Given the description of an element on the screen output the (x, y) to click on. 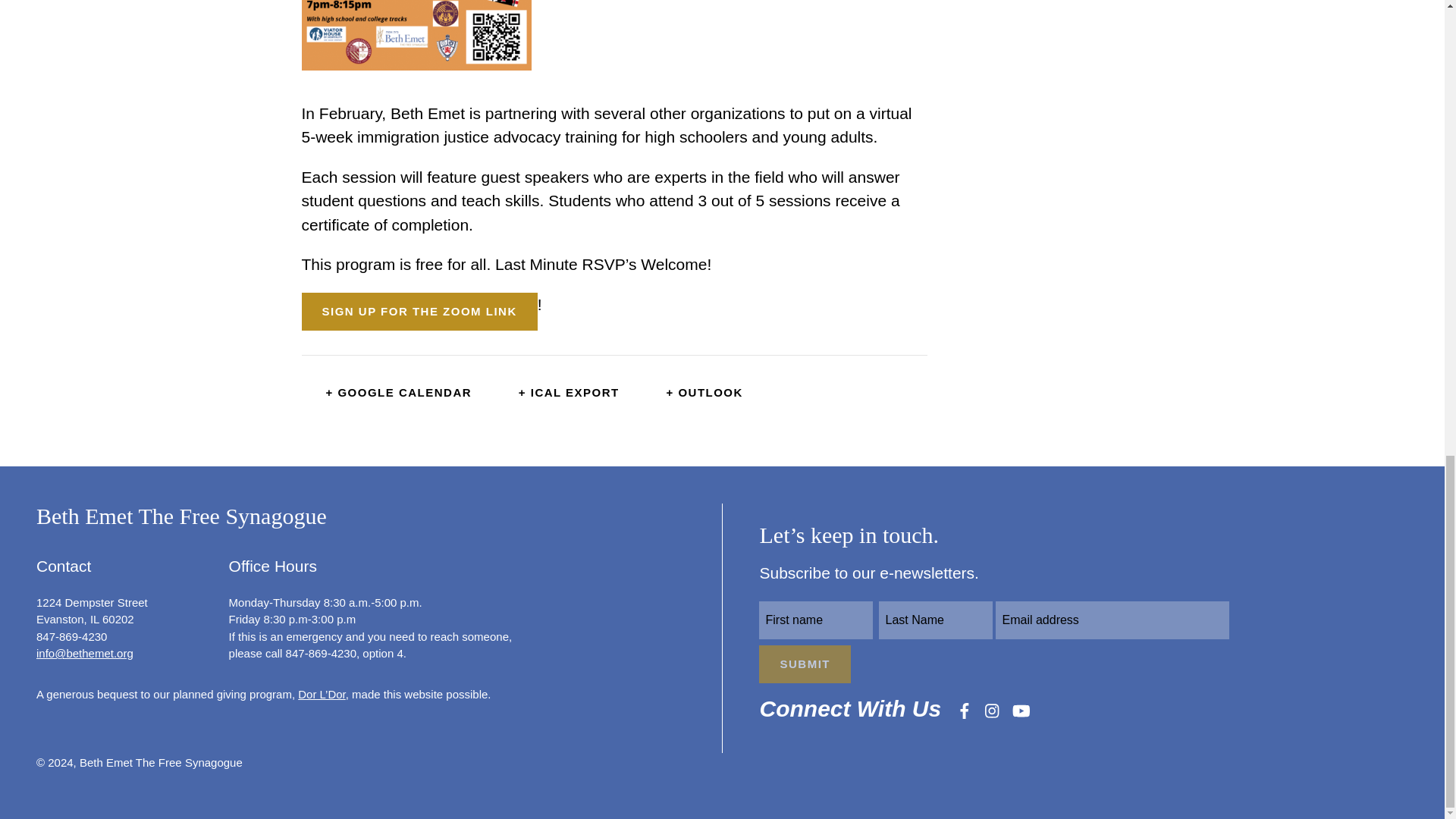
Last Name (935, 620)
Submit (804, 664)
Email Address (1111, 620)
First Name (815, 620)
Add to Google Calendar (386, 392)
